Given the description of an element on the screen output the (x, y) to click on. 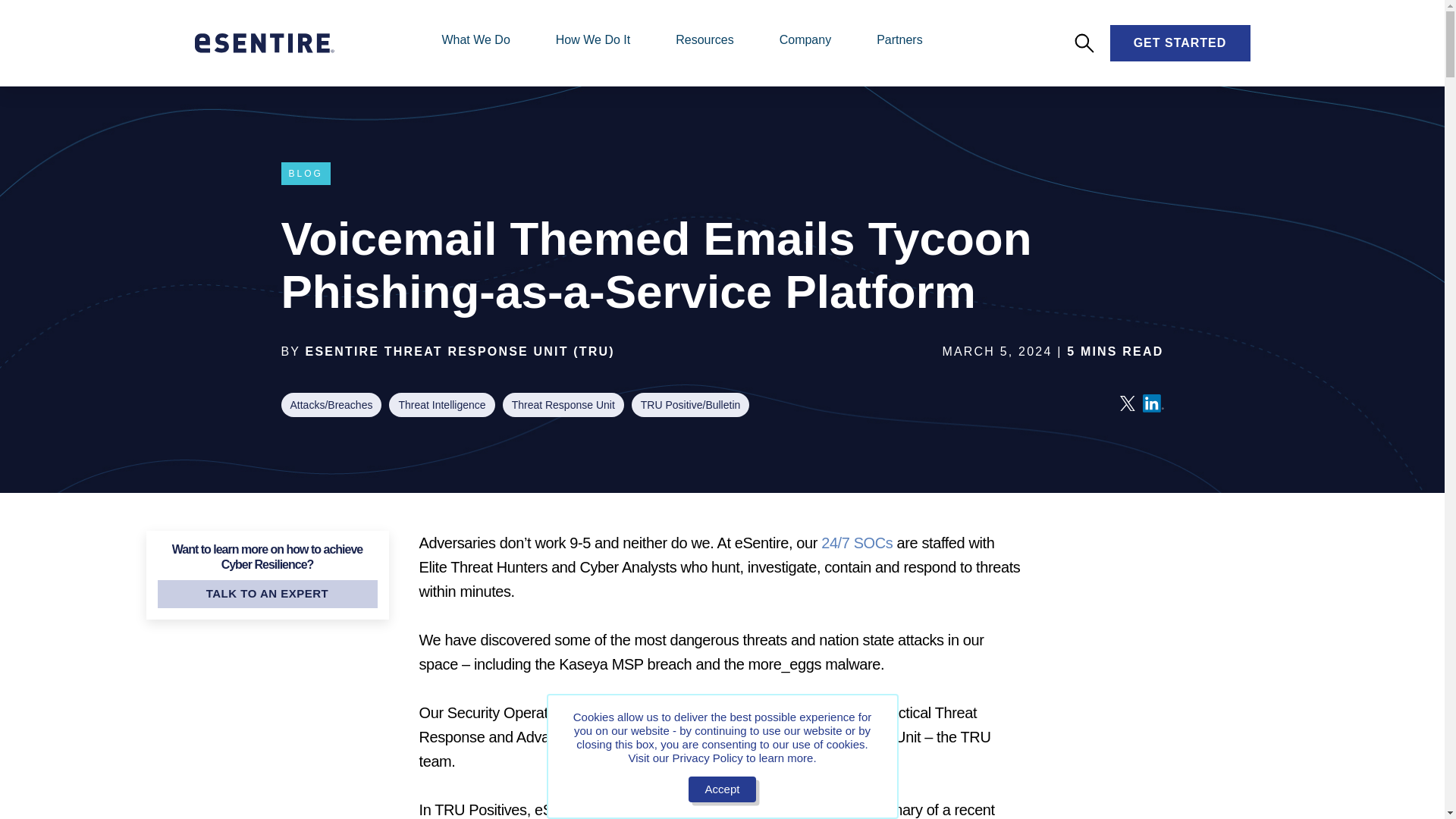
TALK TO AN EXPERT (267, 593)
Privacy Policy (706, 757)
Accept (722, 789)
